Given the description of an element on the screen output the (x, y) to click on. 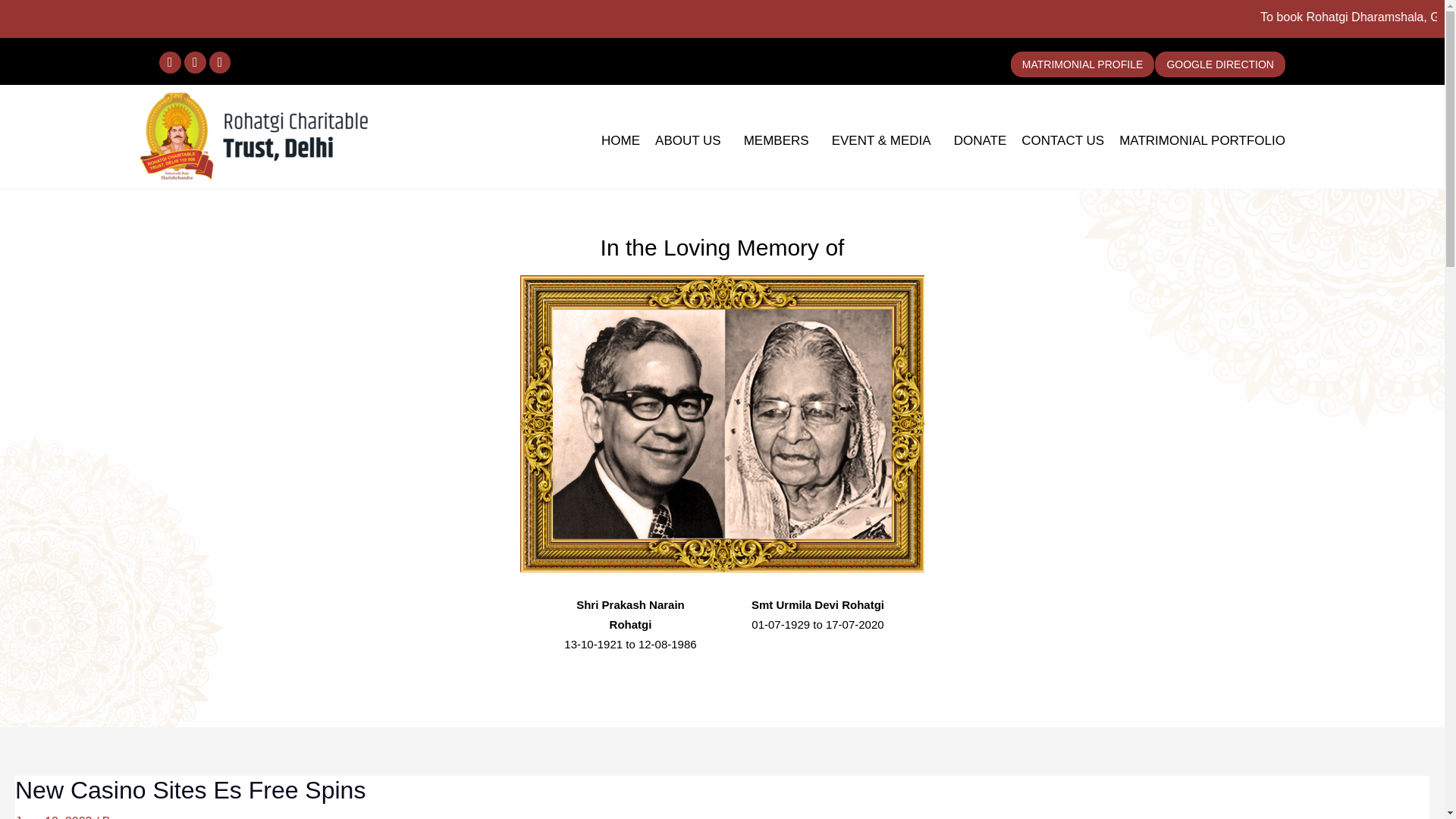
Youtube (220, 62)
GOOGLE DIRECTION (1219, 63)
ABOUT US (692, 140)
HOME (620, 140)
MEMBERS (780, 140)
Instagram (195, 62)
Facebook (169, 62)
MATRIMONIAL PROFILE (1082, 63)
